Given the description of an element on the screen output the (x, y) to click on. 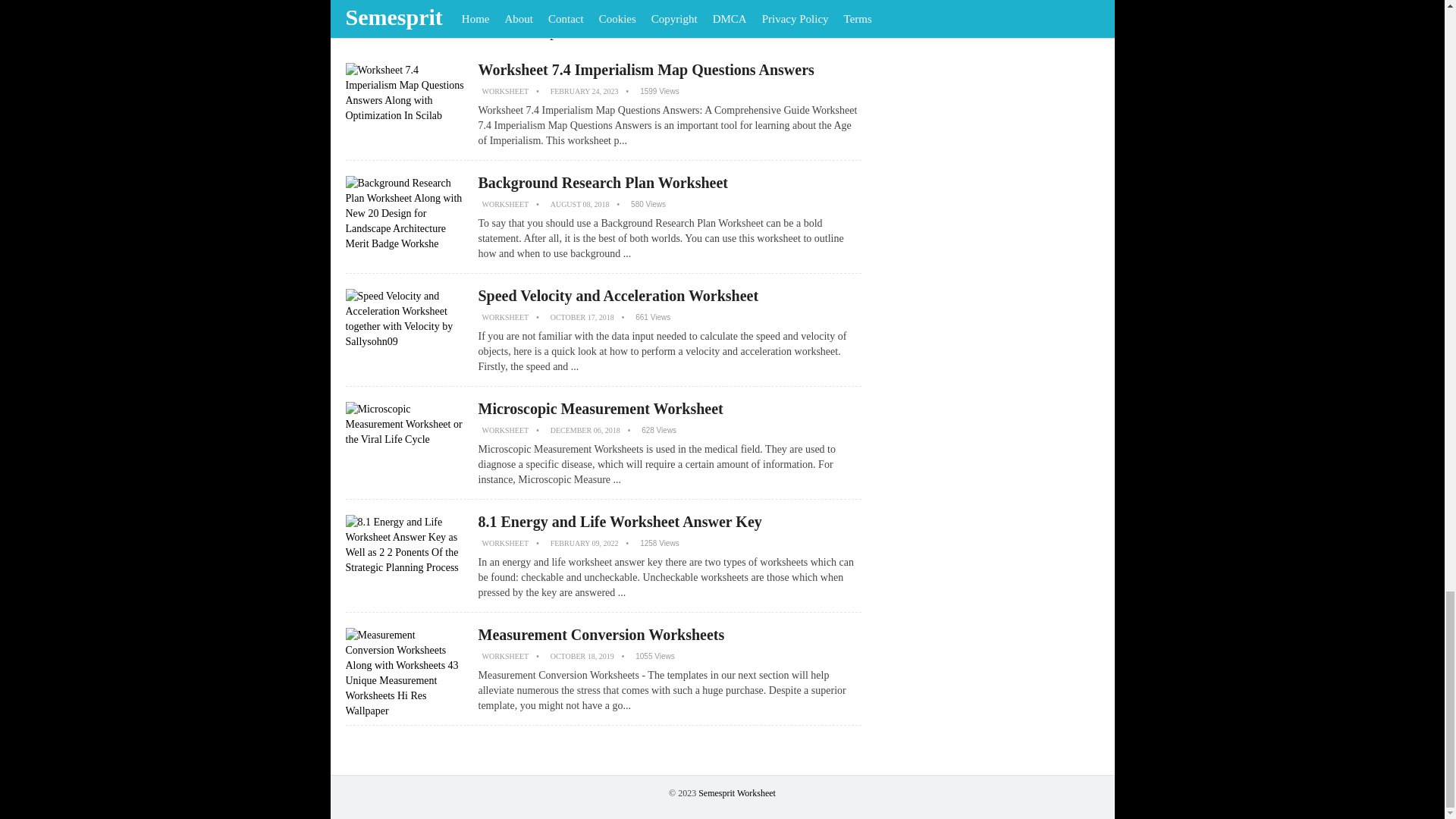
WORKSHEET (505, 542)
Worksheet 7.4 Imperialism Map Questions Answers (645, 69)
Microscopic Measurement Worksheet (599, 408)
Speed Velocity and Acceleration Worksheet (617, 295)
Measurement Conversion Worksheets (600, 634)
Microscopic Measurement Worksheet or the Viral Life Cycle (406, 447)
Background Research Plan Worksheet (601, 182)
WORKSHEET (505, 655)
WORKSHEET (505, 203)
8.1 Energy and Life Worksheet Answer Key (619, 521)
